Given the description of an element on the screen output the (x, y) to click on. 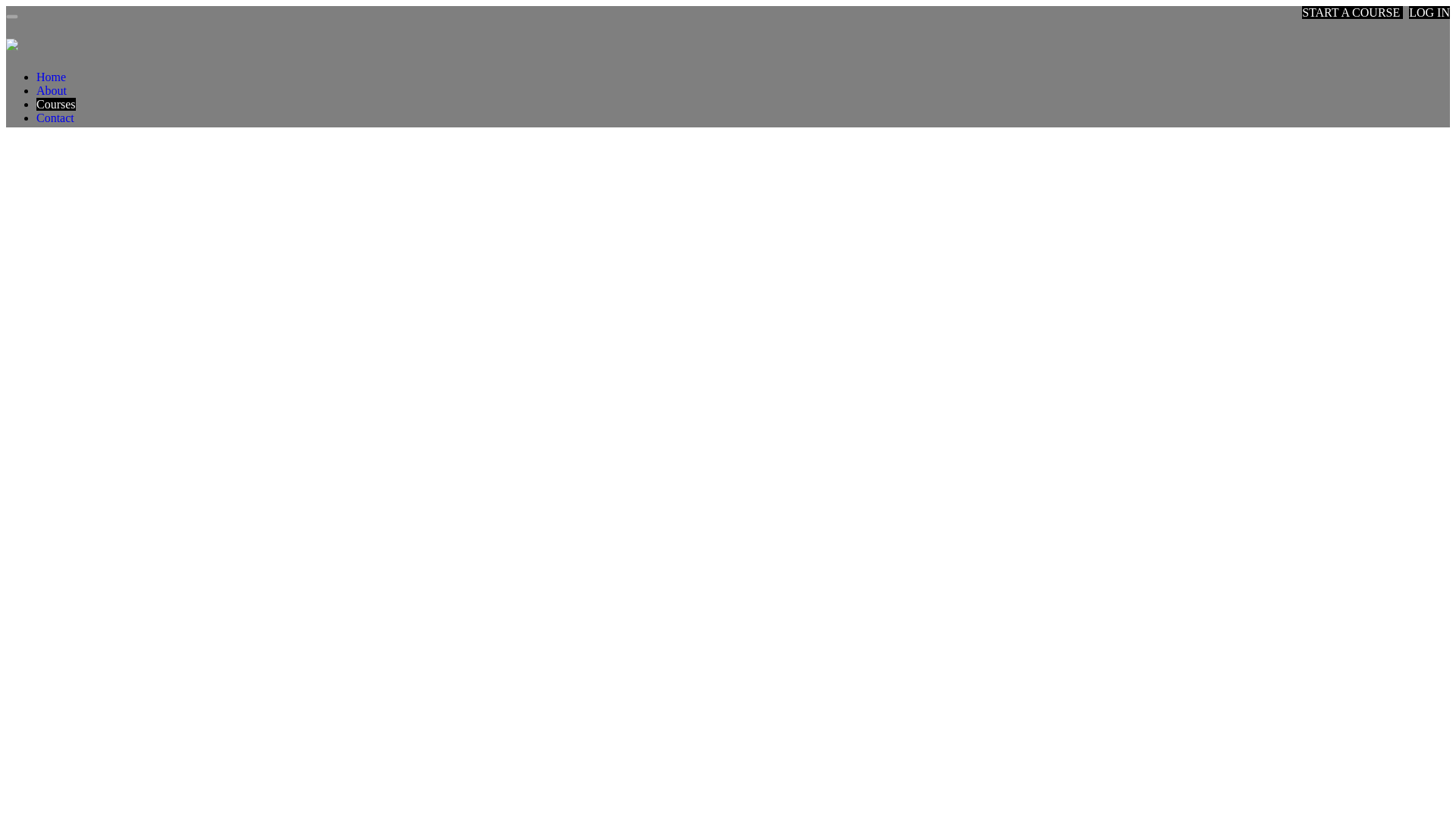
About (51, 90)
START A COURSE (1352, 11)
Home (50, 76)
Courses (55, 103)
